Given the description of an element on the screen output the (x, y) to click on. 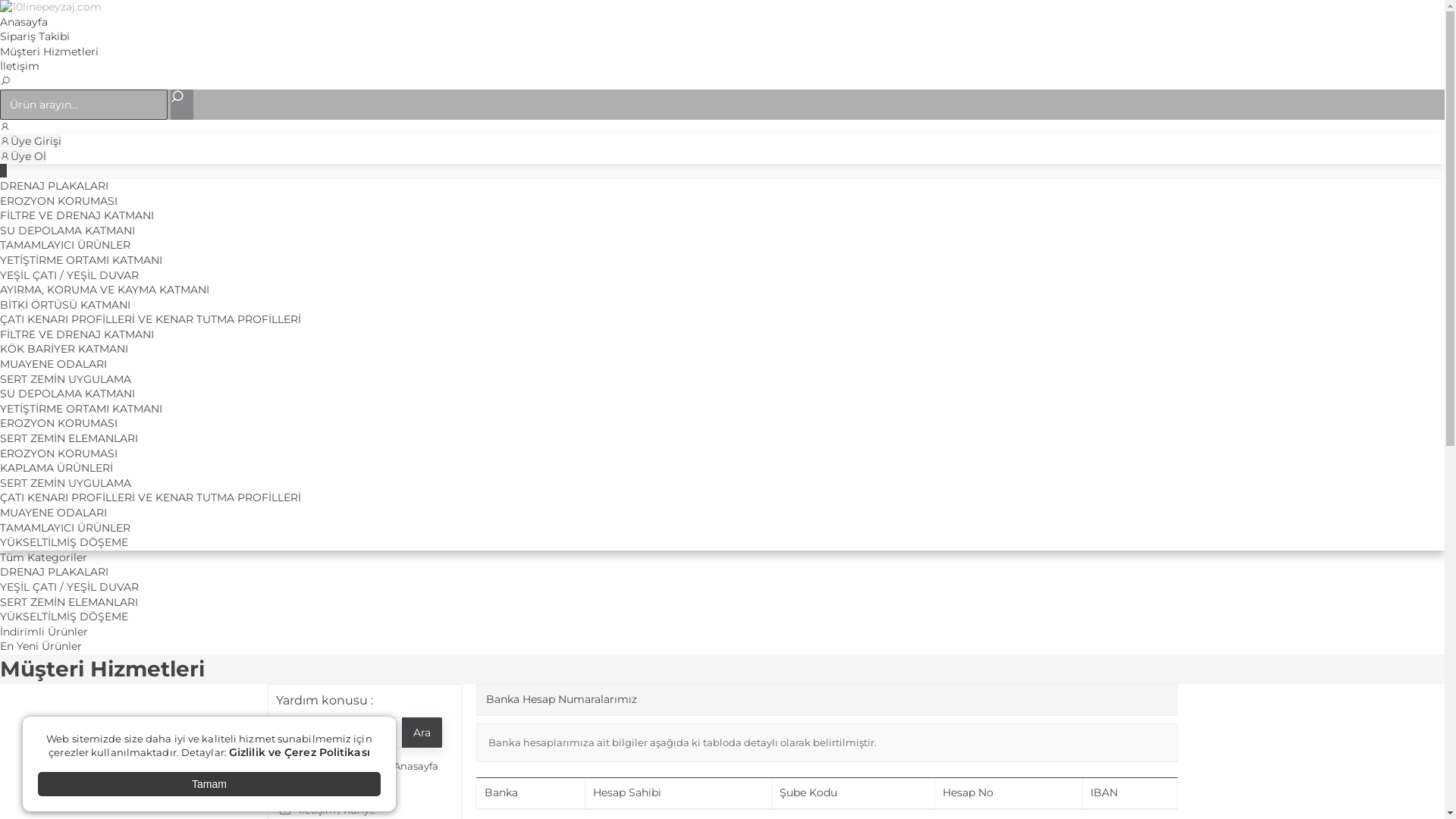
AYIRMA, KORUMA VE KAYMA KATMANI Element type: text (104, 289)
DRENAJ PLAKALARI Element type: text (54, 571)
MUAYENE ODALARI Element type: text (53, 363)
SU DEPOLAMA KATMANI Element type: text (67, 393)
Ara Element type: text (421, 732)
SU DEPOLAMA KATMANI Element type: text (67, 230)
EROZYON KORUMASI Element type: text (58, 200)
MUAYENE ODALARI Element type: text (53, 512)
EROZYON KORUMASI Element type: text (58, 422)
Anasayfa Element type: text (23, 21)
0 Element type: text (3, 170)
DRENAJ PLAKALARI Element type: text (54, 185)
Tamam Element type: text (208, 783)
EROZYON KORUMASI Element type: text (58, 453)
10linepeyzaj.com Element type: hover (50, 6)
